Given the description of an element on the screen output the (x, y) to click on. 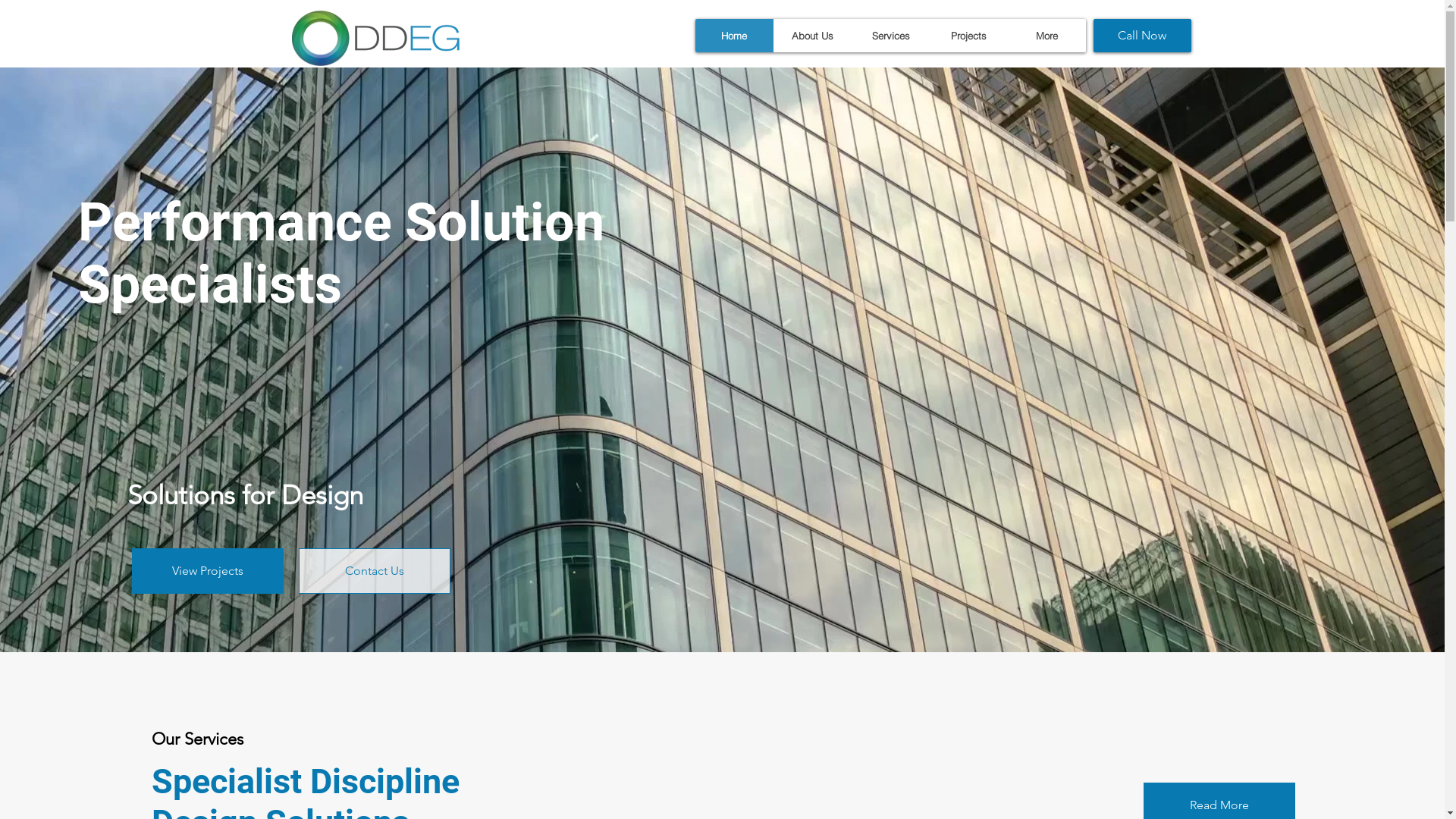
About Us Element type: text (812, 35)
Services Element type: text (889, 35)
Home Element type: text (733, 35)
Projects Element type: text (968, 35)
View Projects Element type: text (207, 570)
Call Now Element type: text (1142, 35)
Contact Us Element type: text (374, 570)
